Given the description of an element on the screen output the (x, y) to click on. 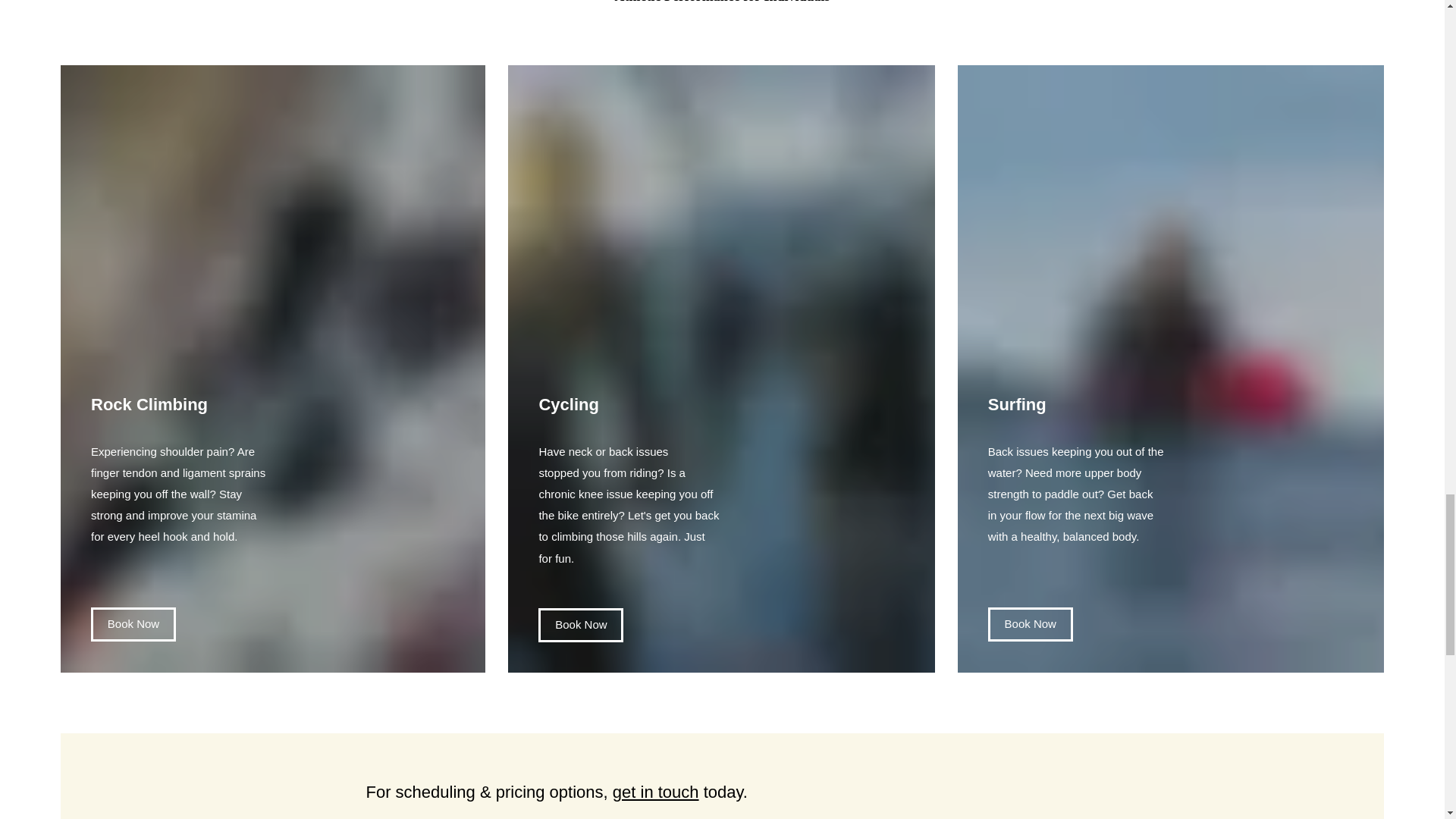
Book Now (580, 625)
get in touch (655, 791)
Book Now (1030, 624)
Book Now (133, 624)
